Given the description of an element on the screen output the (x, y) to click on. 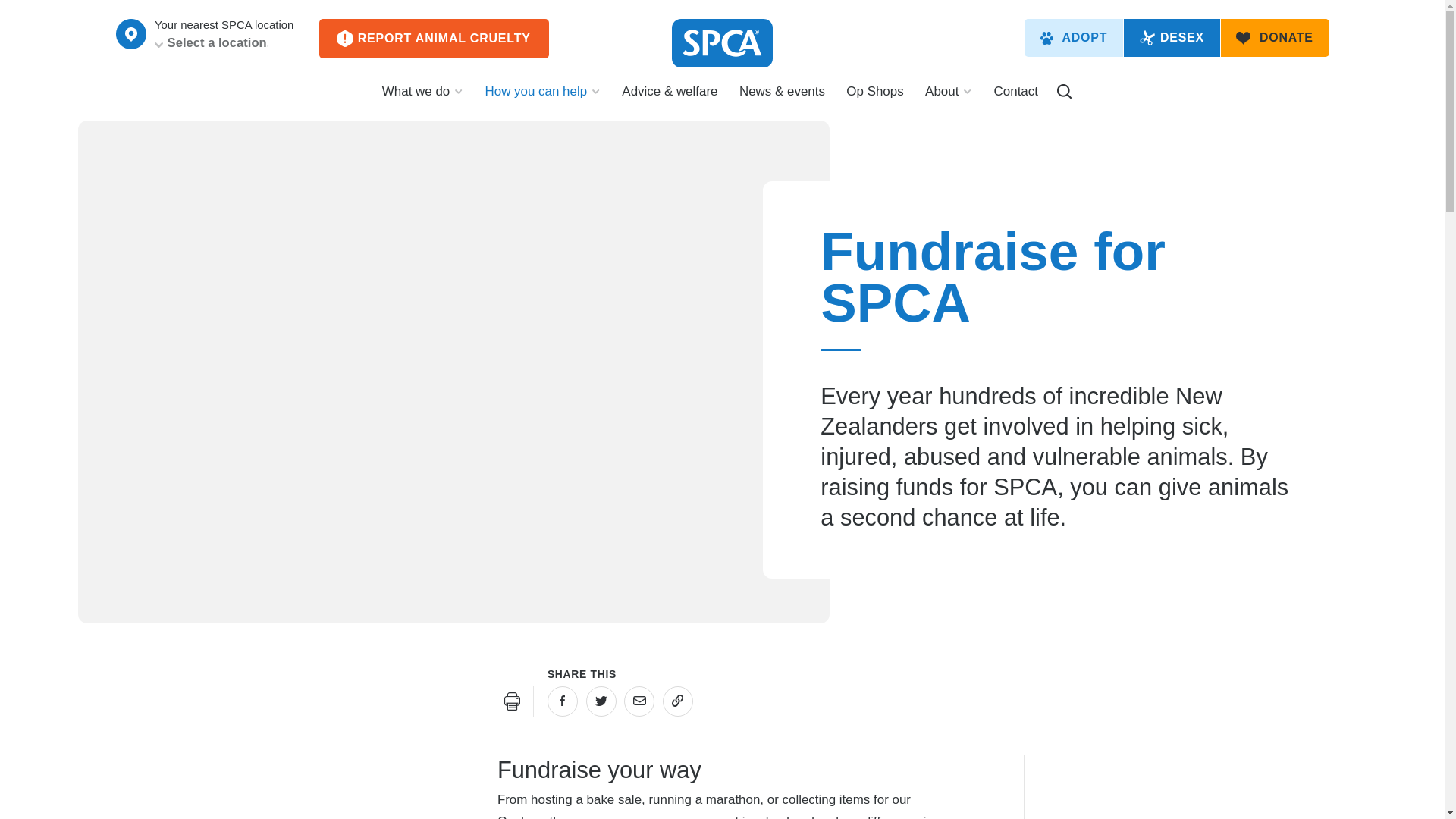
What we do (421, 97)
Copy this article's URL (677, 701)
DONATE (1275, 37)
ADOPT (1073, 37)
DESEX (1172, 37)
Print this page (512, 701)
Share on Facebook (562, 701)
SPCA New Zealand (722, 42)
Choose a centre (130, 33)
Search our site (1064, 91)
Op Shops (874, 97)
Choose a centre (130, 33)
How you can help (543, 97)
Share on Twitter (600, 701)
Email this article (638, 701)
